Given the description of an element on the screen output the (x, y) to click on. 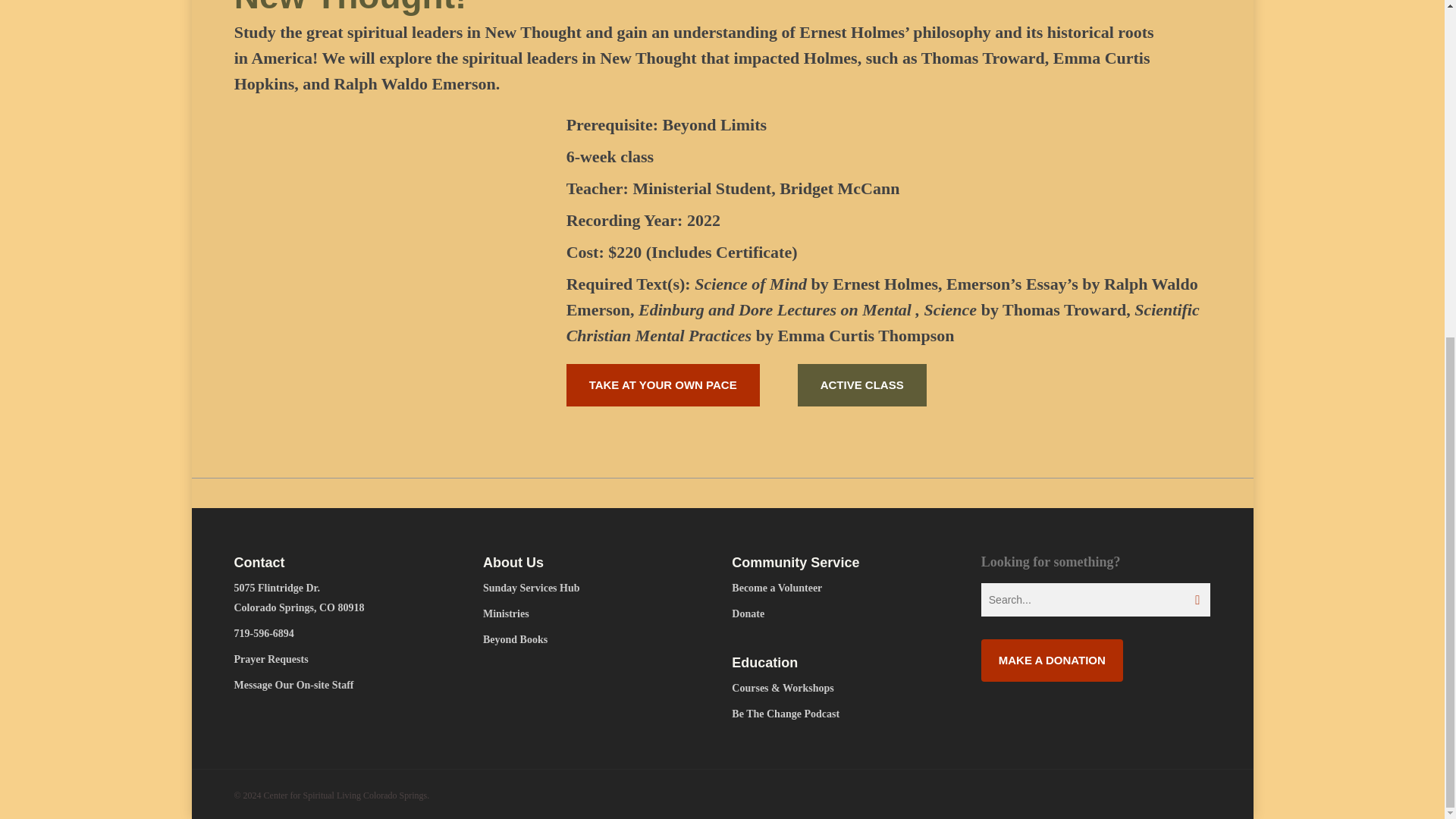
Be The Change Podcast (846, 713)
Ministries (598, 614)
Education (846, 662)
Become a Volunteer (846, 588)
MAKE A DONATION (1051, 660)
Donate (846, 614)
Contact (347, 562)
Search for: (1096, 599)
Message Our On-site Staff (347, 685)
